Given the description of an element on the screen output the (x, y) to click on. 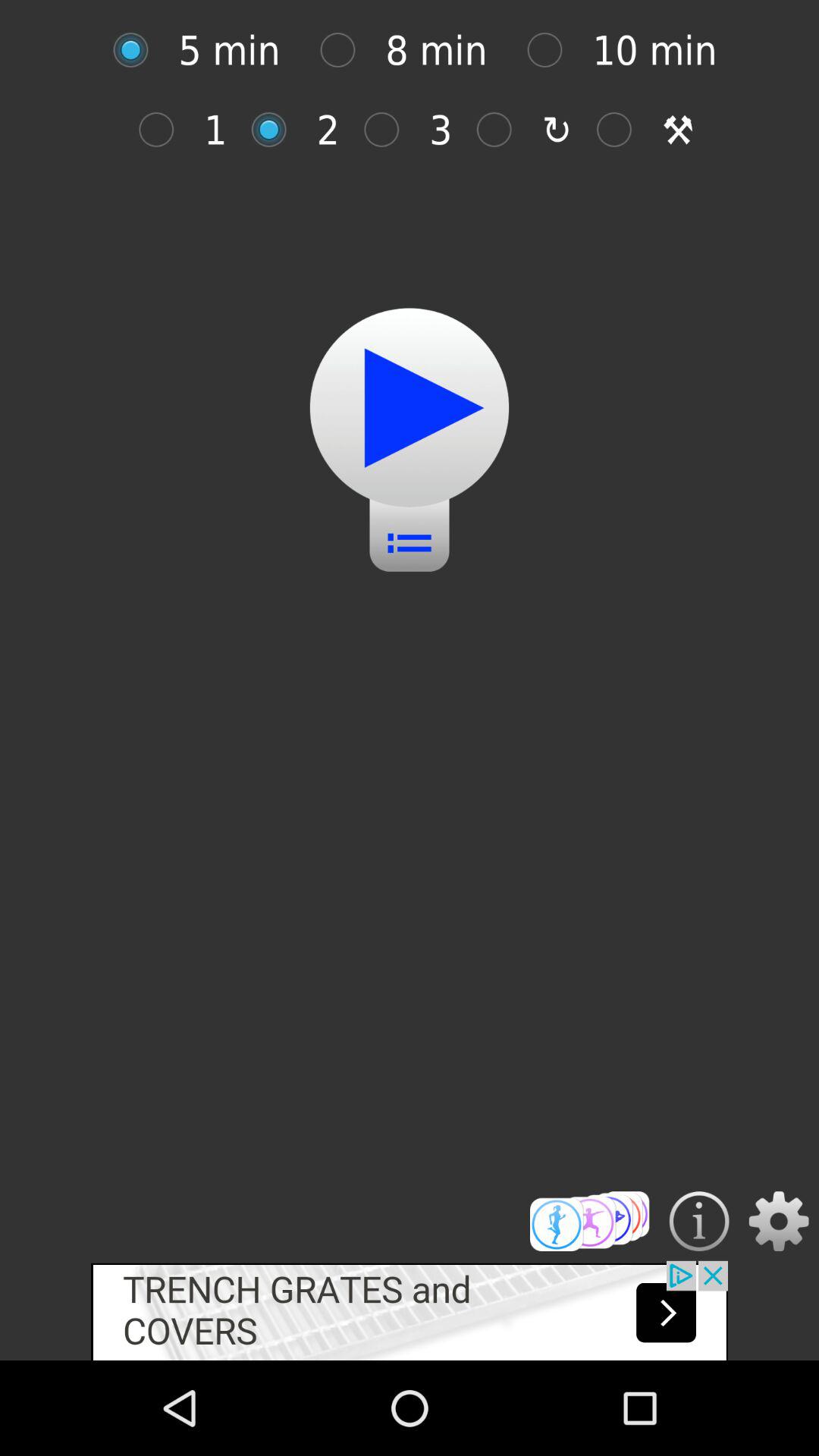
open settings (778, 1221)
